Given the description of an element on the screen output the (x, y) to click on. 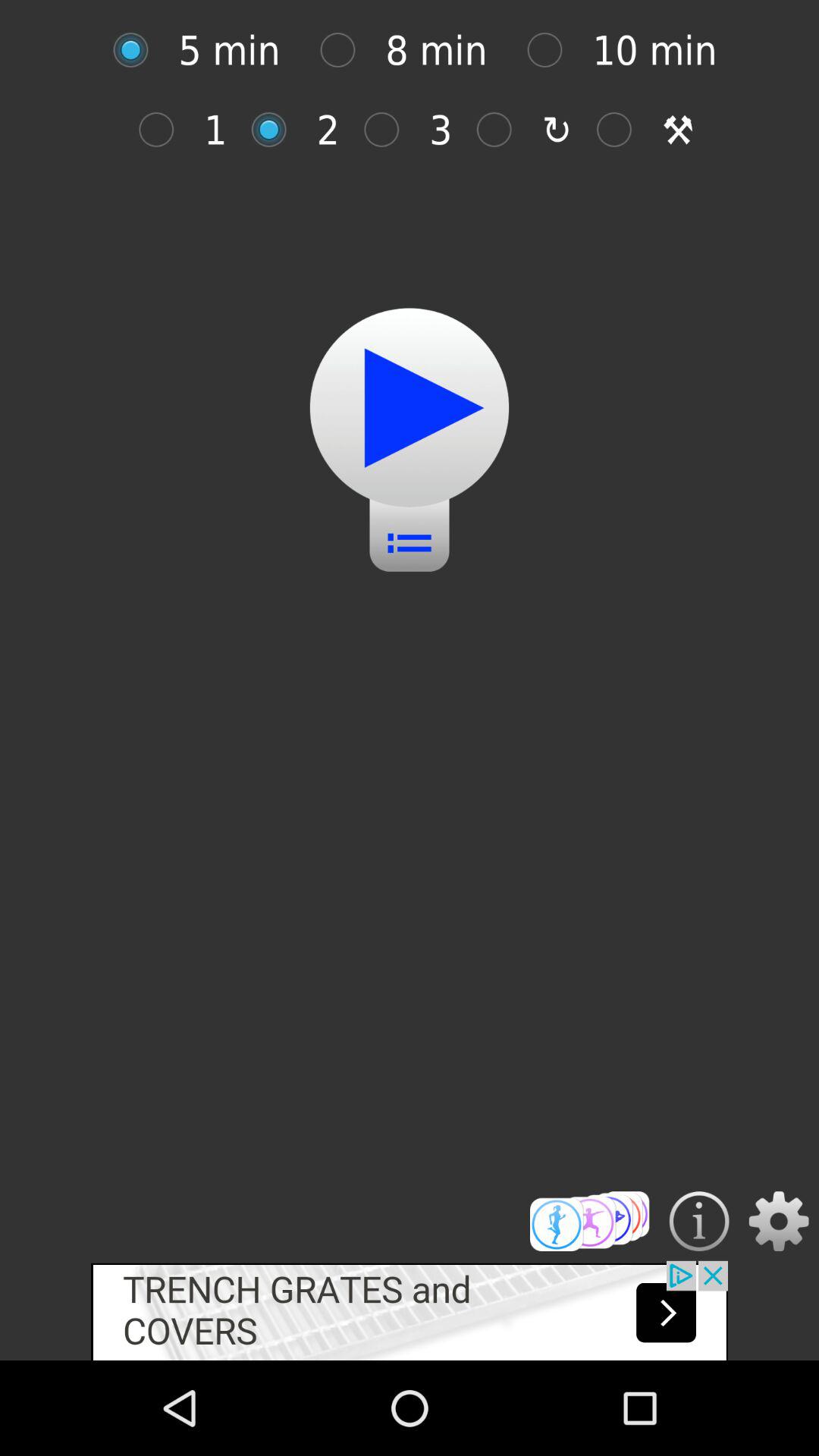
open settings (778, 1221)
